Given the description of an element on the screen output the (x, y) to click on. 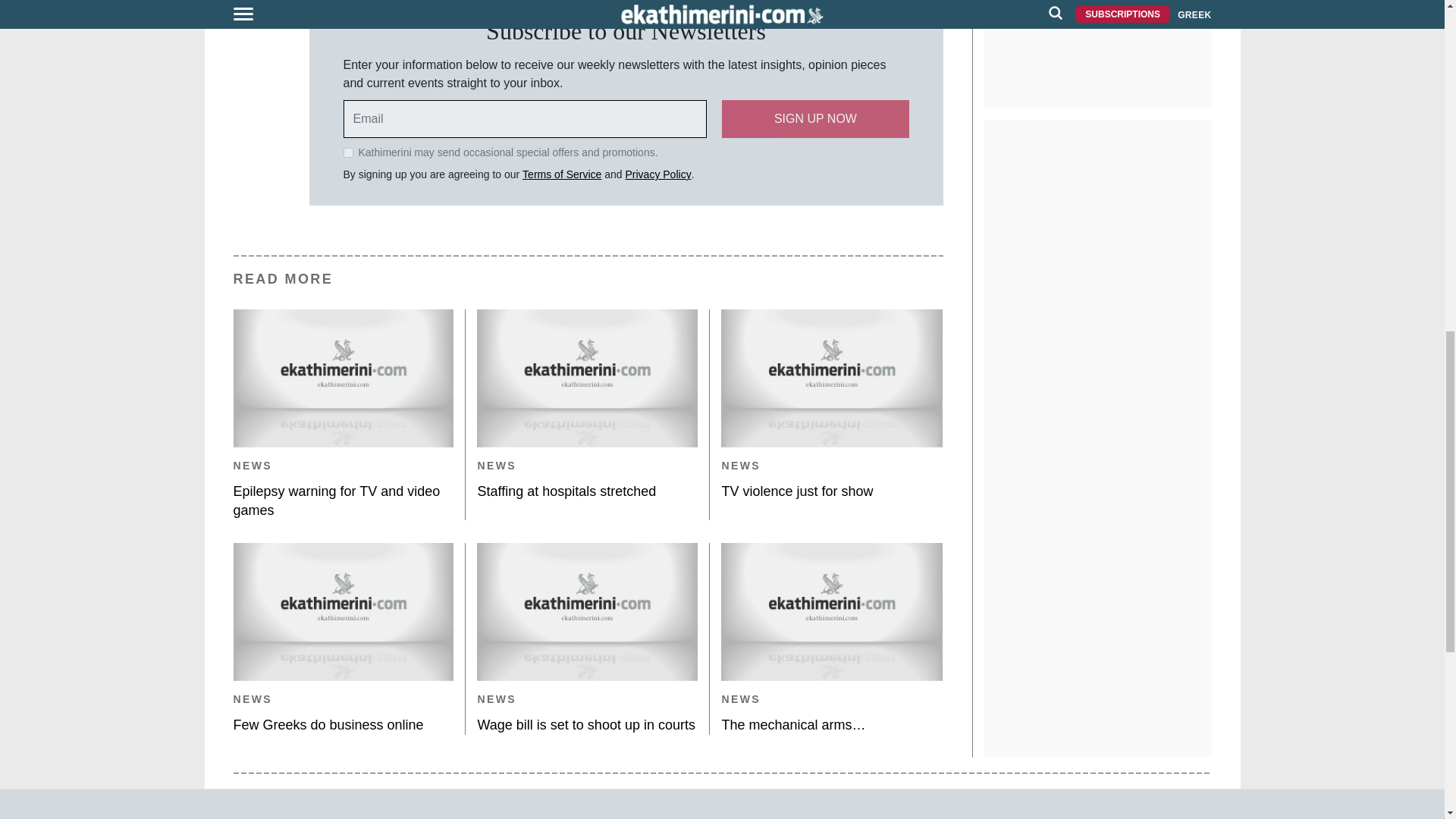
on (347, 153)
